Given the description of an element on the screen output the (x, y) to click on. 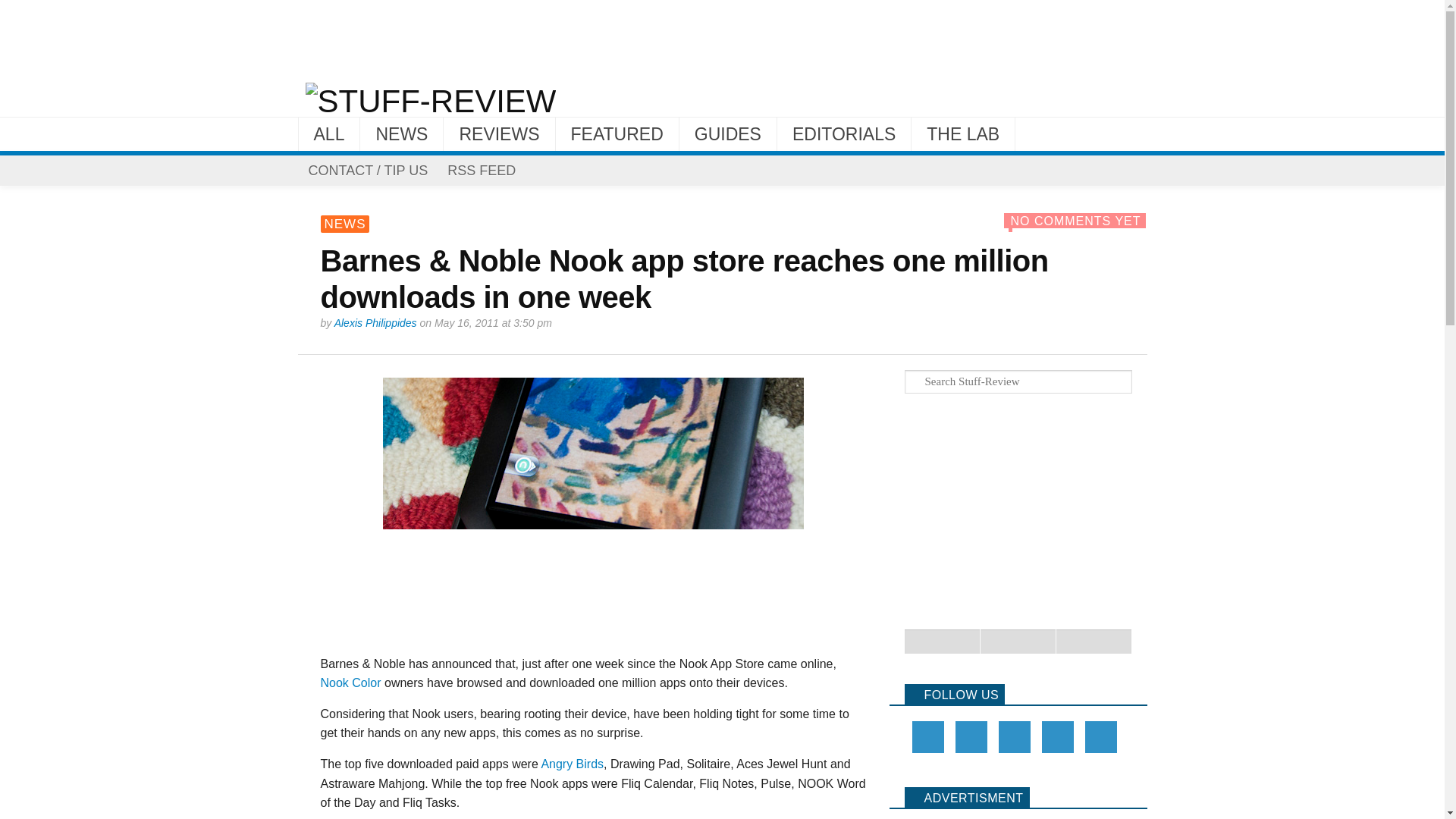
Noon Color one million app downloads (592, 509)
NEWS (400, 133)
Comments (1093, 641)
Alexis Philippides (375, 322)
Nook Color (350, 682)
EDITORIALS (844, 133)
Posts by Alexis Philippides (375, 322)
Recent (941, 641)
Popular (1017, 641)
THE LAB (962, 133)
ALL (328, 133)
FEATURED (617, 133)
Search Stuff-Review (1025, 382)
View all articles in News (344, 223)
Advertisement (721, 36)
